Given the description of an element on the screen output the (x, y) to click on. 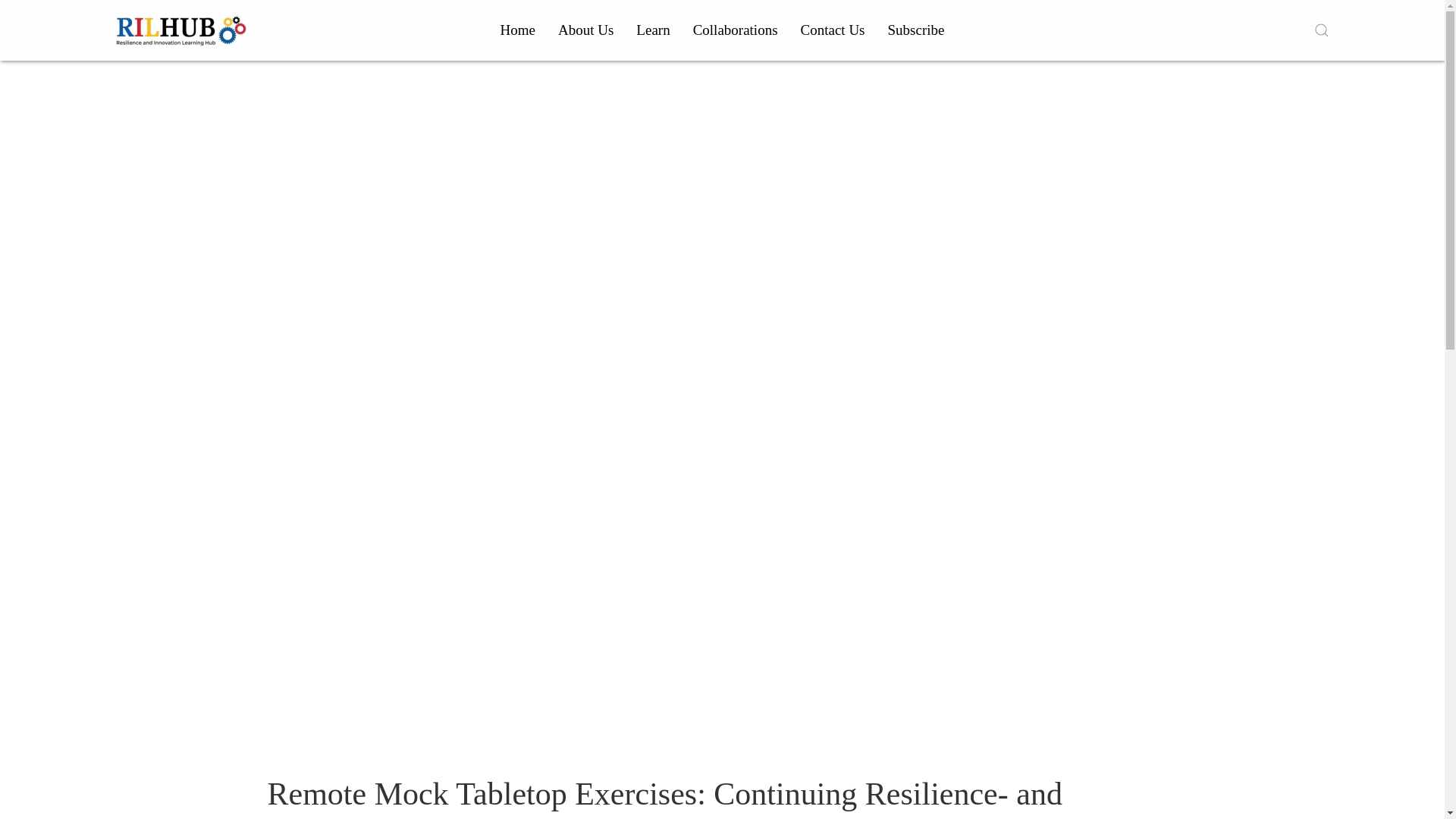
Home (518, 30)
Learn (652, 30)
About Us (585, 30)
Collaborations (735, 30)
